Given the description of an element on the screen output the (x, y) to click on. 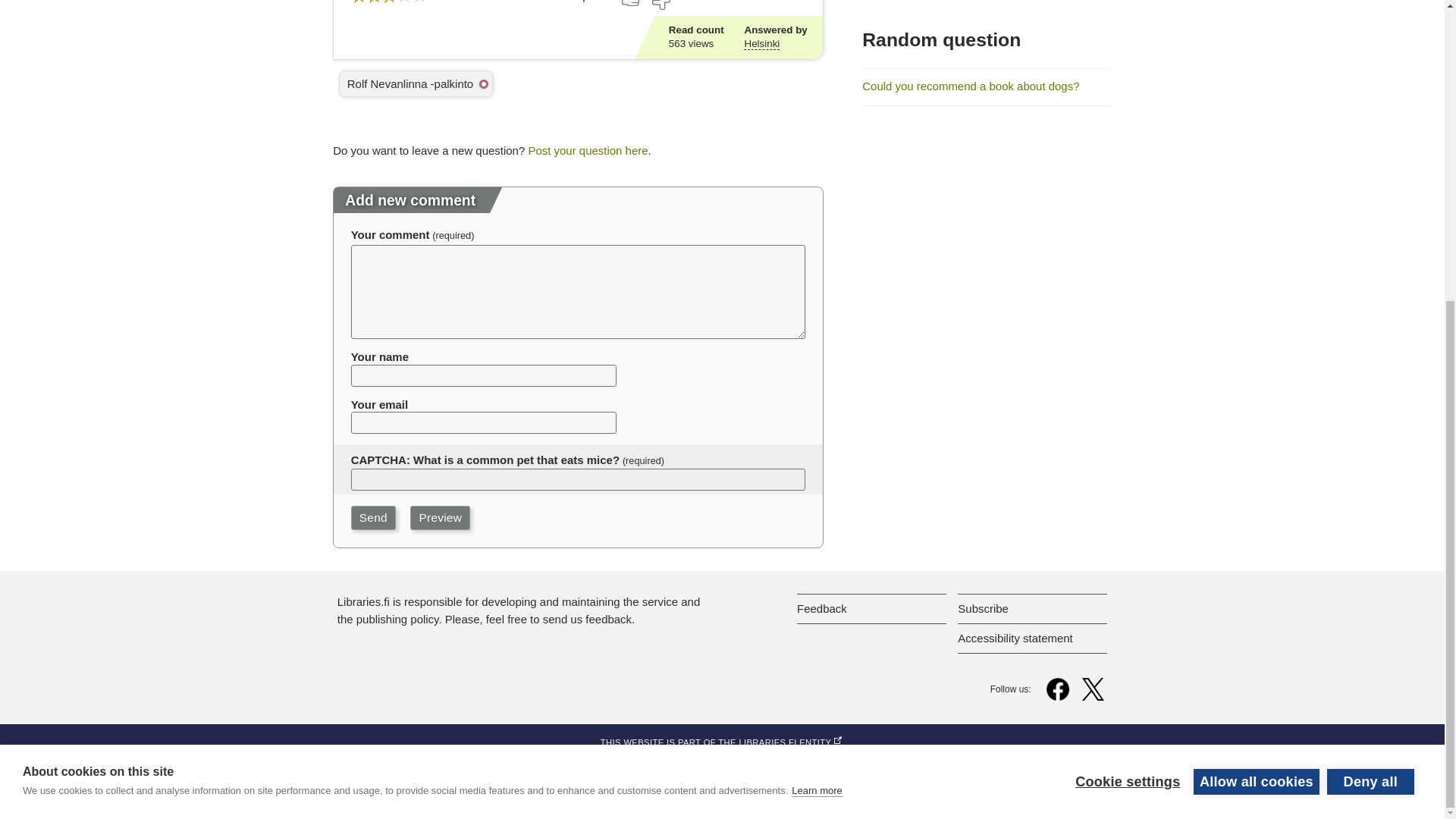
Preview (440, 517)
Cookie settings (1127, 338)
Send (373, 517)
Allow all cookies (1256, 328)
up (631, 2)
Helsinki (761, 43)
Deny all (1369, 321)
down (659, 4)
Learn more (816, 361)
